Given the description of an element on the screen output the (x, y) to click on. 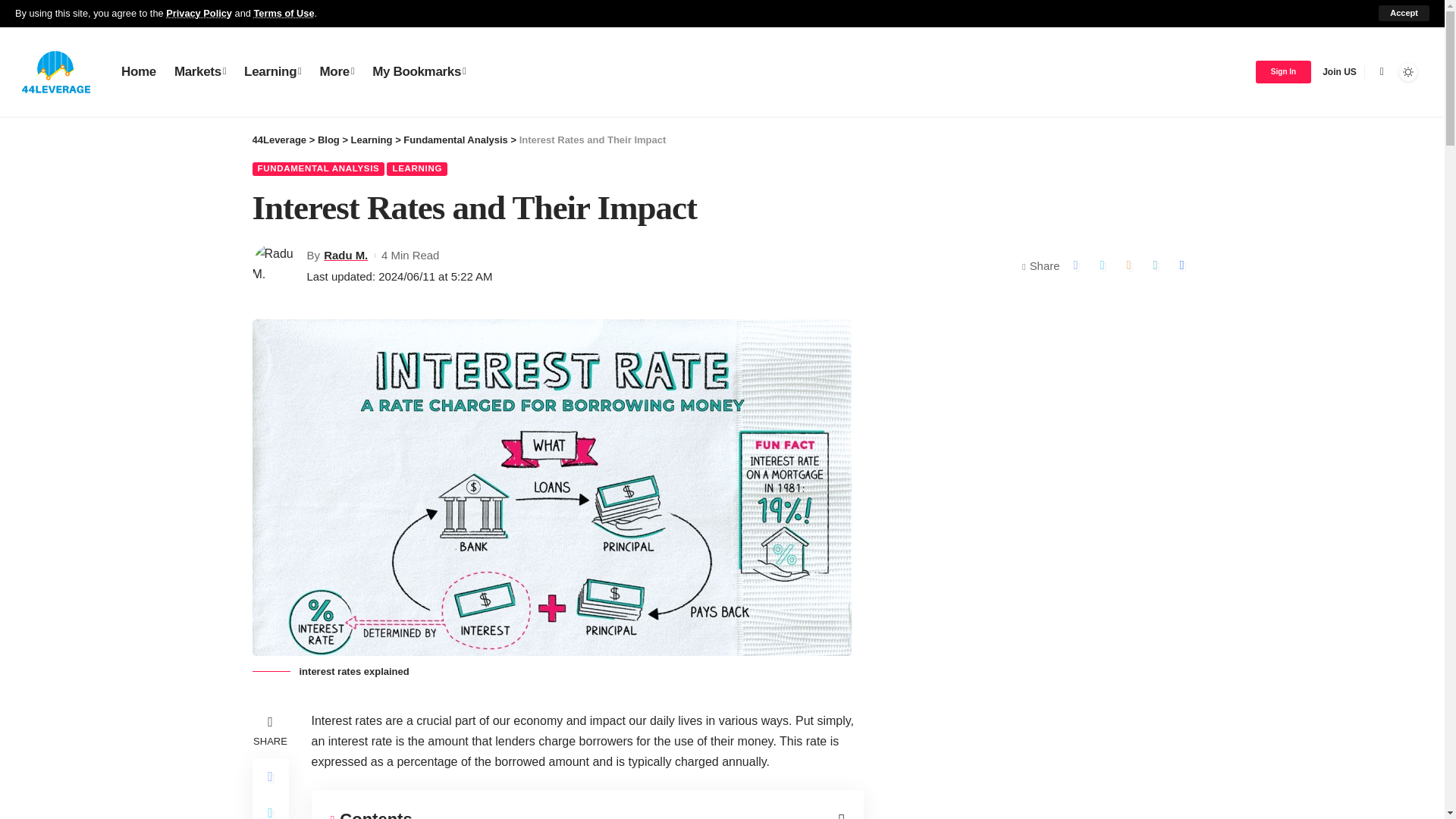
Learning (272, 72)
Privacy Policy (198, 12)
Accept (1403, 12)
Terms of Use (283, 12)
Markets (199, 72)
Home (138, 72)
